Given the description of an element on the screen output the (x, y) to click on. 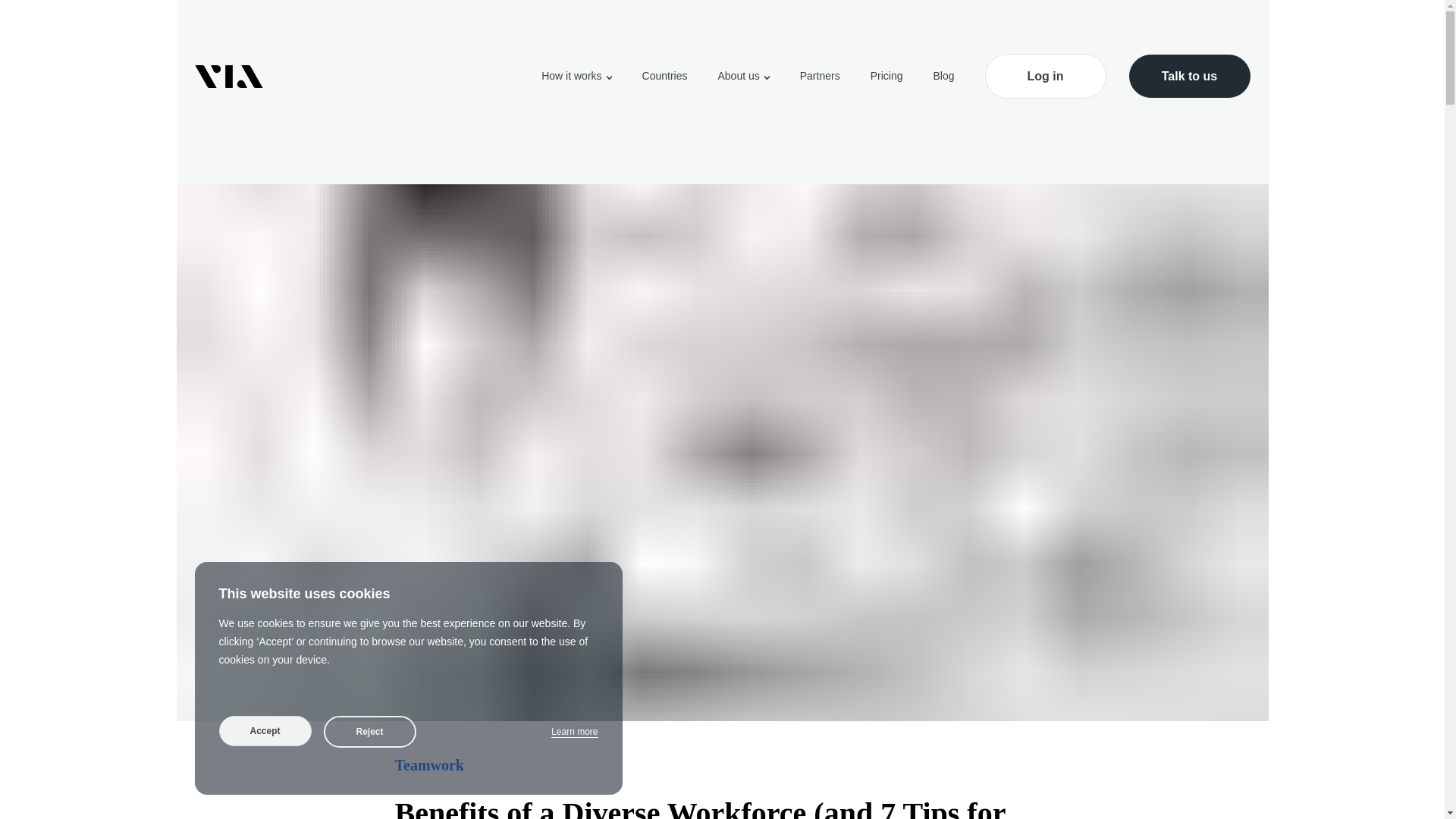
Log in (1044, 76)
Accept (264, 730)
Partners (819, 75)
Countries (664, 75)
Reject (368, 731)
Blog (943, 75)
Pricing (886, 75)
Learn more (573, 731)
Talk to us (1188, 75)
